Given the description of an element on the screen output the (x, y) to click on. 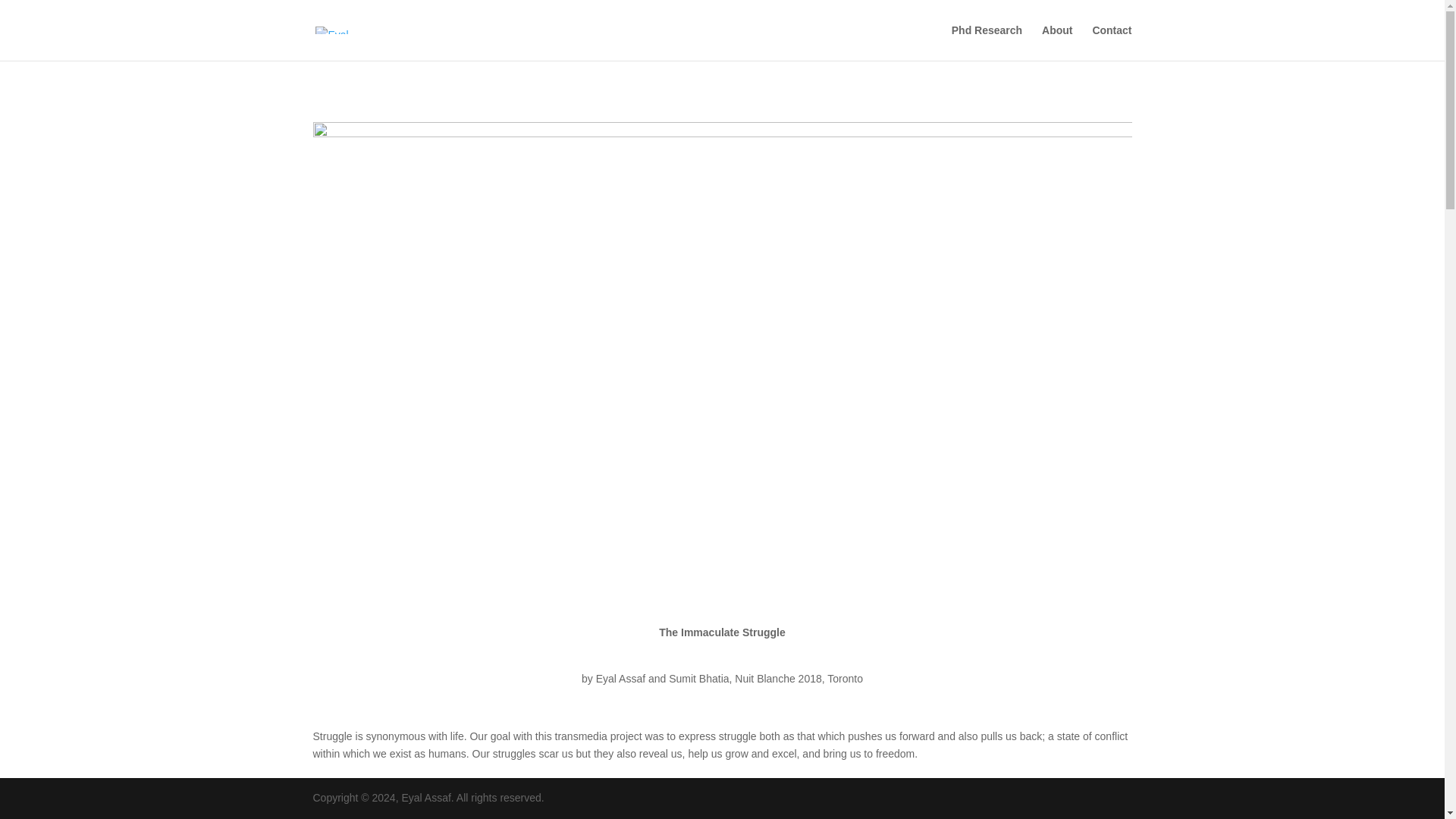
Phd Research (987, 42)
Contact (1111, 42)
